Given the description of an element on the screen output the (x, y) to click on. 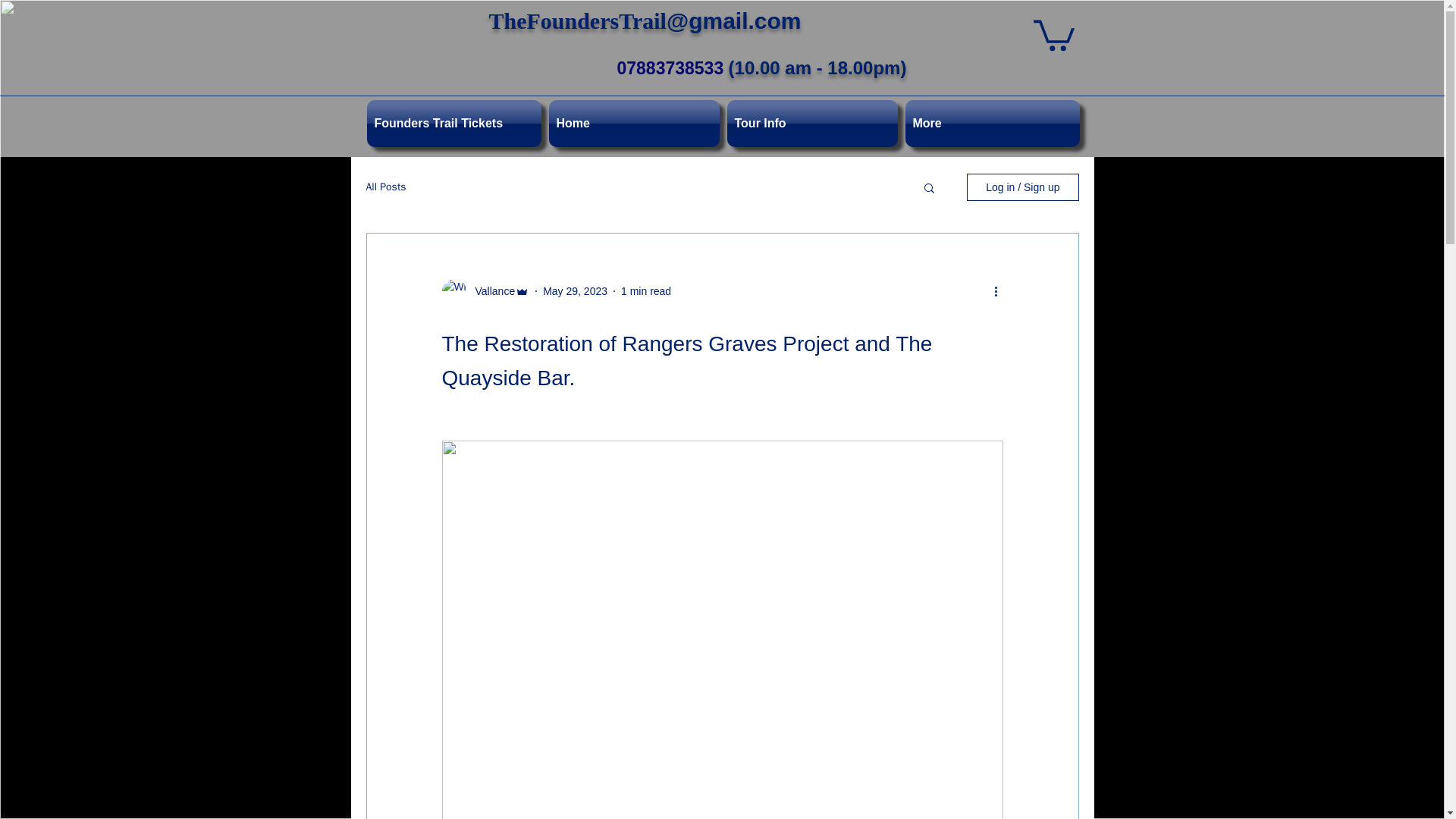
Founders Trail Tickets (455, 123)
May 29, 2023 (575, 291)
Tour Info (812, 123)
All Posts (385, 187)
Home (633, 123)
1 min read (646, 291)
Vallance (490, 291)
